Given the description of an element on the screen output the (x, y) to click on. 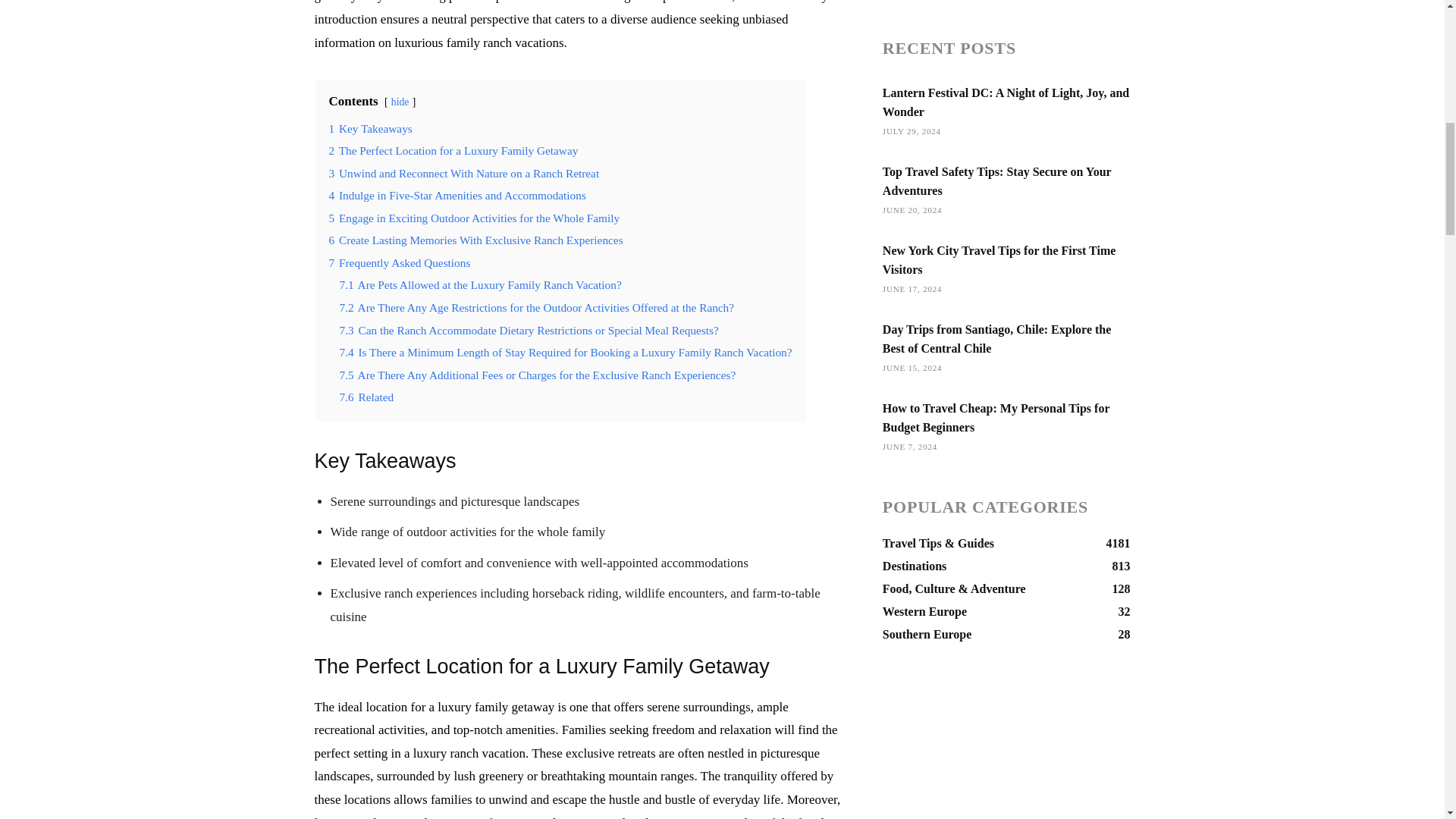
6 Create Lasting Memories With Exclusive Ranch Experiences (476, 239)
7 Frequently Asked Questions (399, 262)
1 Key Takeaways (370, 128)
7.1 Are Pets Allowed at the Luxury Family Ranch Vacation? (480, 284)
3 Unwind and Reconnect With Nature on a Ranch Retreat (464, 173)
hide (400, 101)
2 The Perfect Location for a Luxury Family Getaway (453, 150)
5 Engage in Exciting Outdoor Activities for the Whole Family (474, 217)
4 Indulge in Five-Star Amenities and Accommodations (457, 195)
7.6 Related (366, 396)
